Given the description of an element on the screen output the (x, y) to click on. 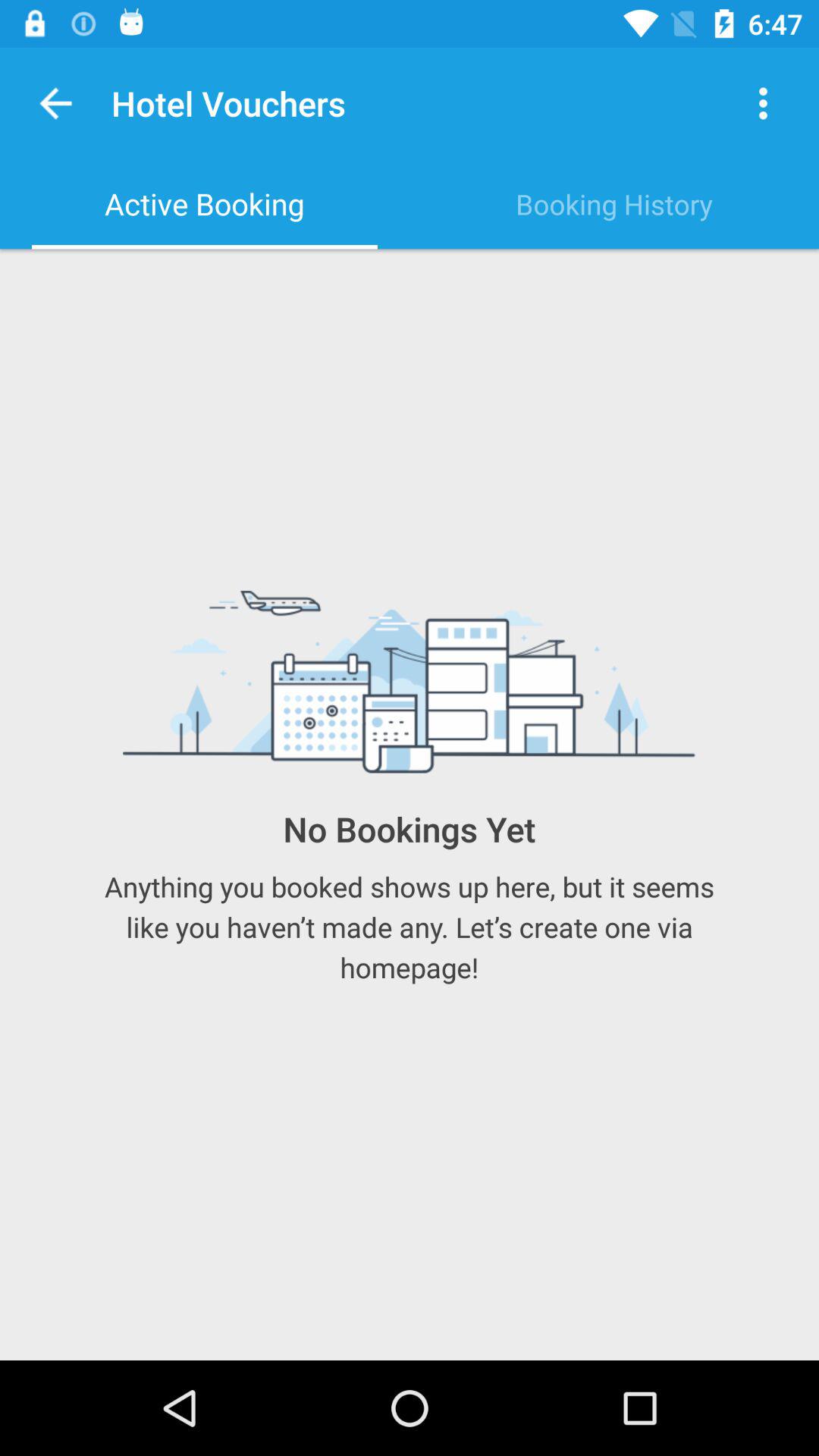
flip until booking history (614, 204)
